Given the description of an element on the screen output the (x, y) to click on. 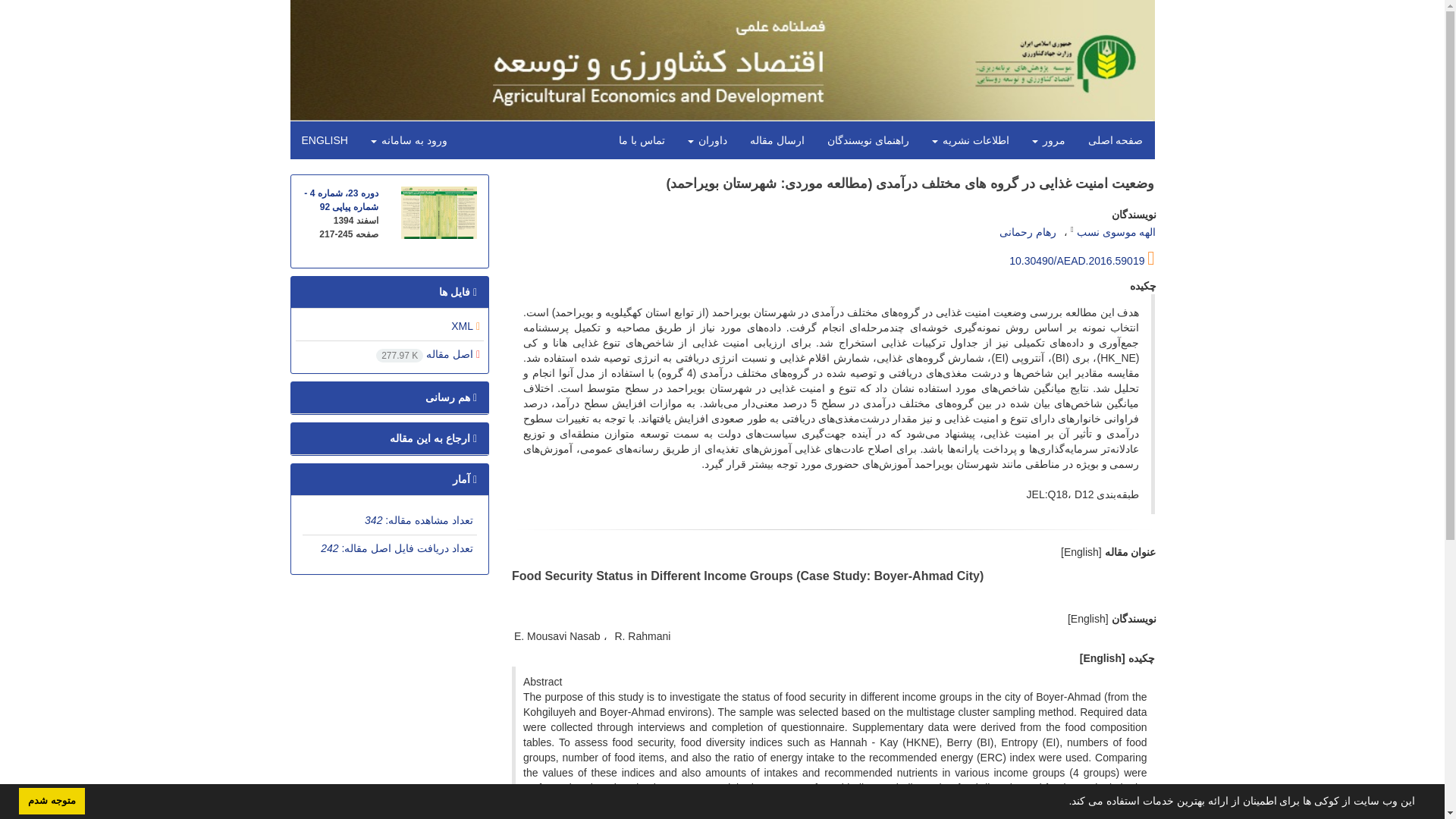
ENGLISH (323, 139)
XML (465, 326)
